Given the description of an element on the screen output the (x, y) to click on. 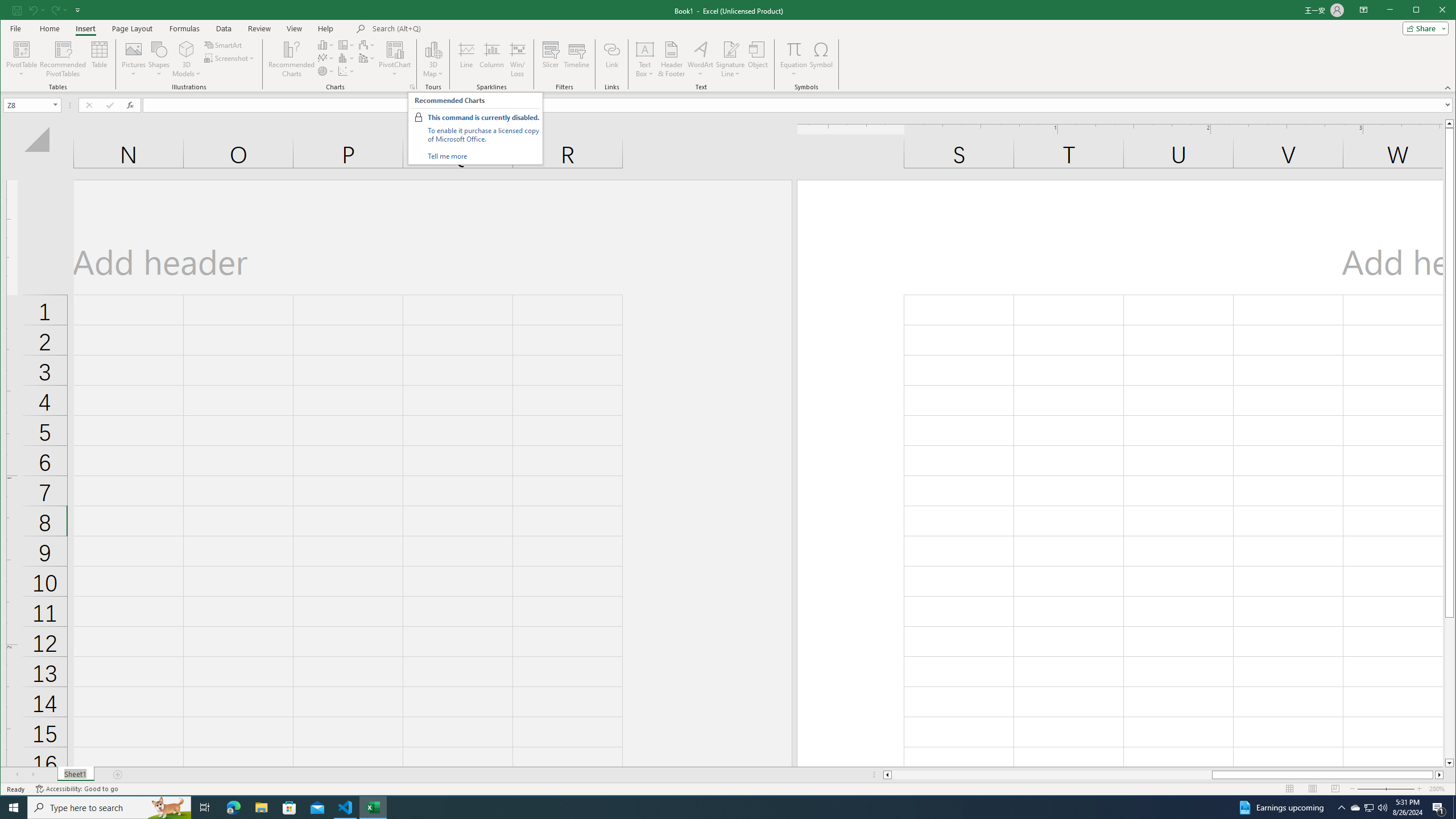
Signature Line (729, 48)
Insert Column or Bar Chart (325, 44)
WordArt (699, 59)
PivotTable (22, 59)
Insert Hierarchy Chart (346, 44)
Timeline (576, 59)
